Given the description of an element on the screen output the (x, y) to click on. 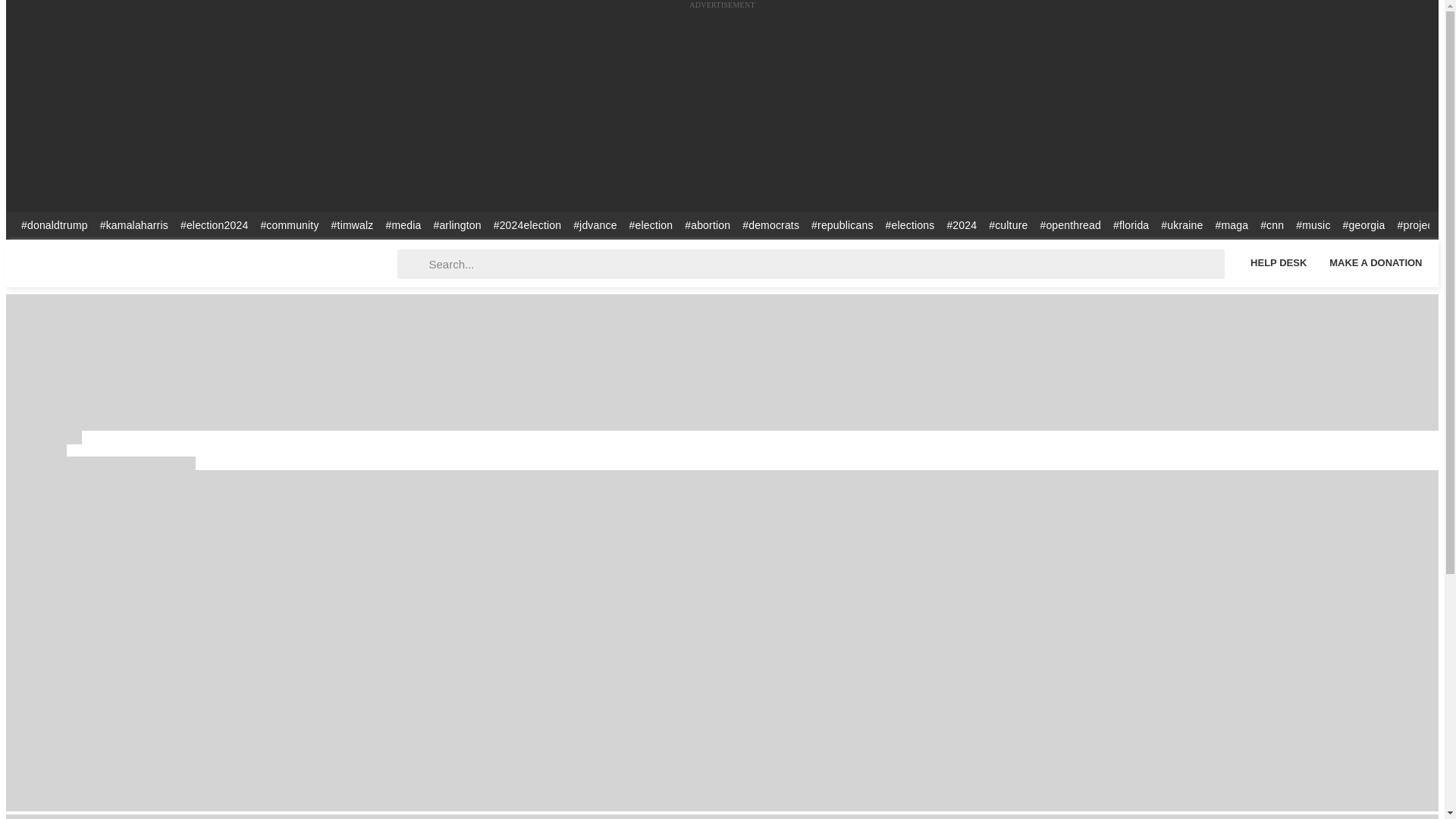
Make a Donation (1375, 262)
Help Desk (1277, 262)
MAKE A DONATION (1375, 262)
